Given the description of an element on the screen output the (x, y) to click on. 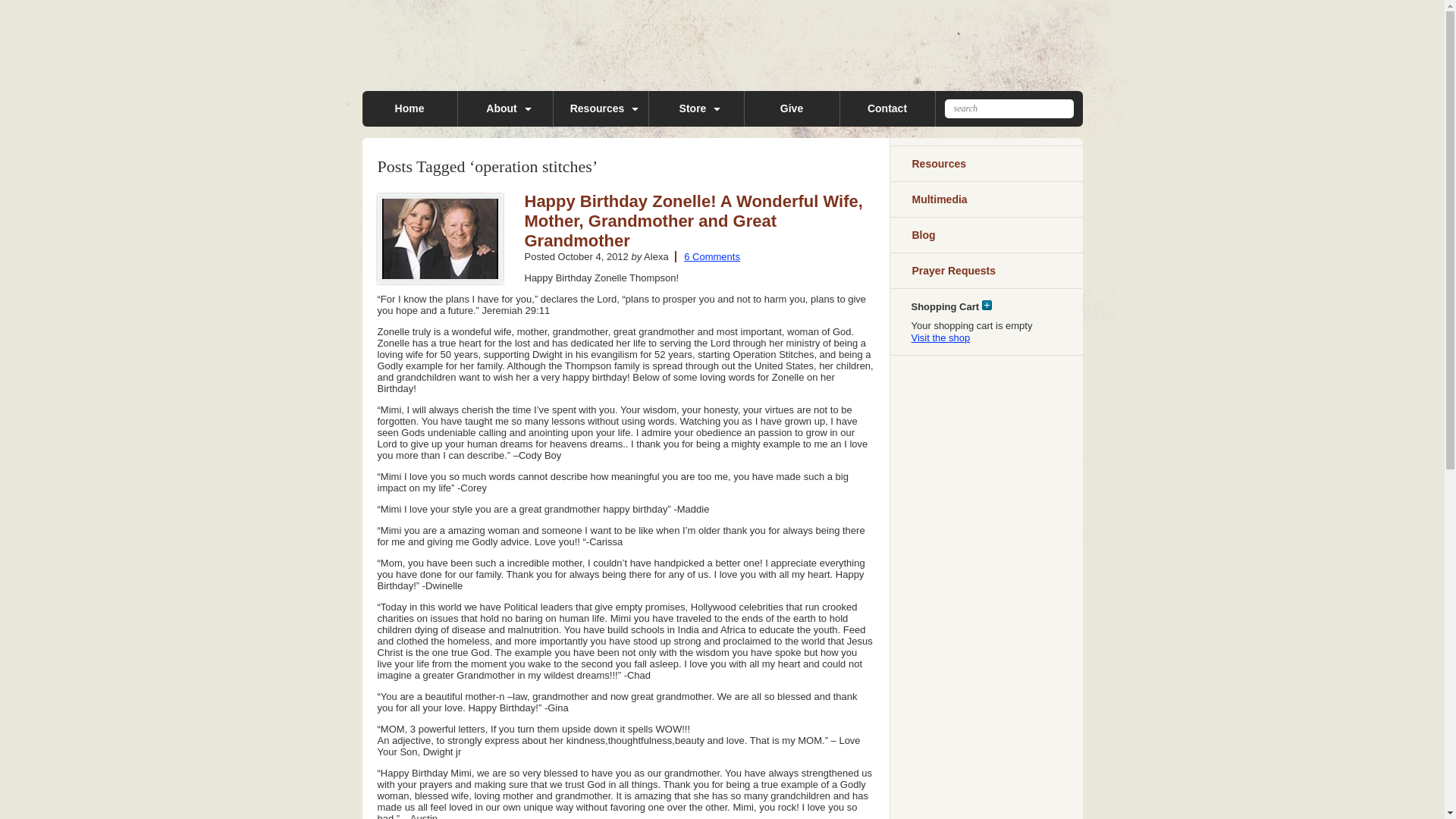
About (505, 108)
Visit the shop (941, 337)
Contact (888, 108)
Prayer Requests (984, 270)
Blog (984, 234)
6 Comments (707, 256)
Give (792, 108)
search (1009, 108)
Visit Shop (941, 337)
